Given the description of an element on the screen output the (x, y) to click on. 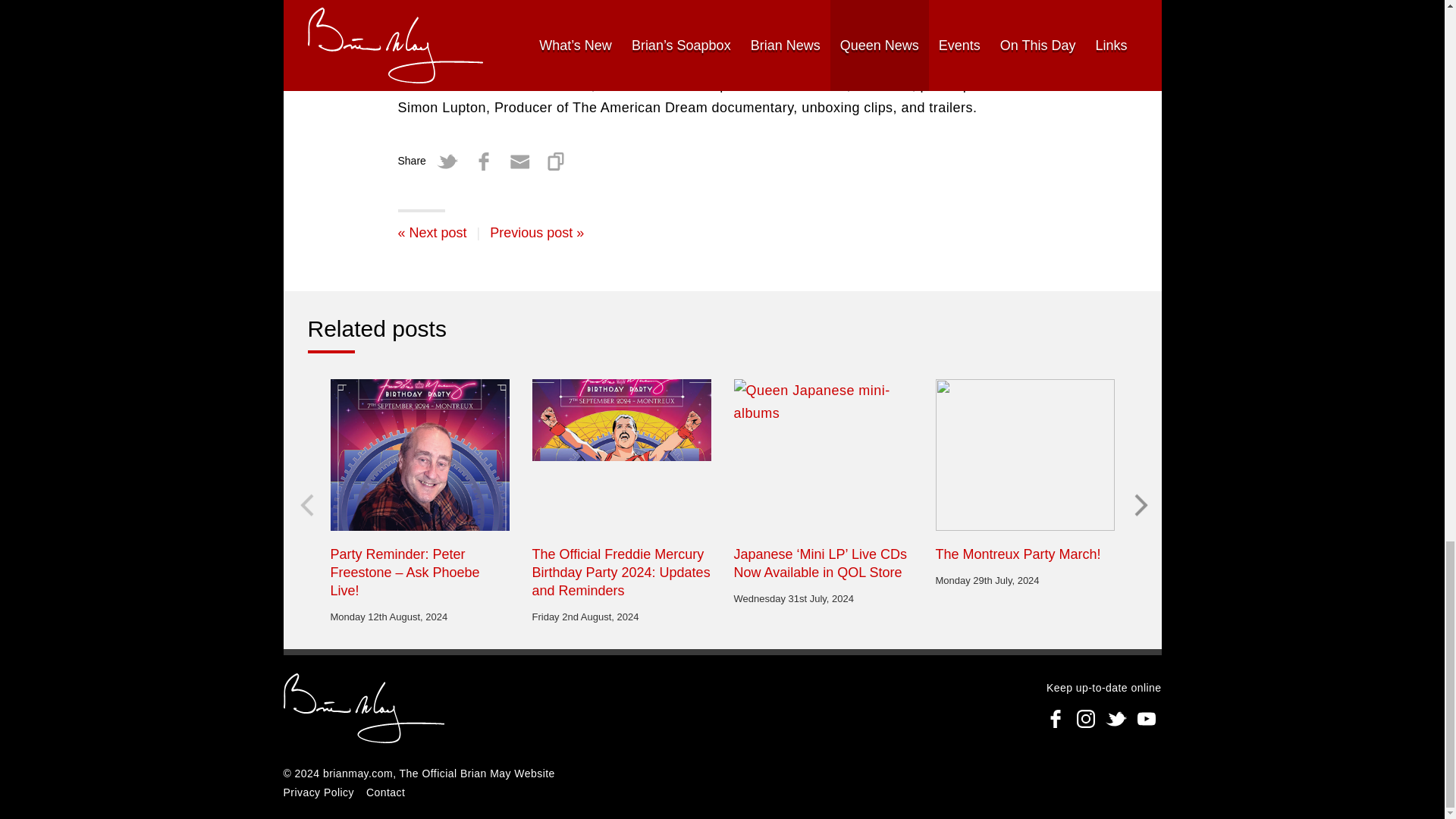
Click here (431, 61)
Follow BrianMay.com on facebook (1055, 718)
Follow BrianMay.com on Instagram (1085, 718)
brianmay.com (364, 710)
Click here (431, 2)
Follow Brian May on YouTube (1146, 718)
brianmay.com (358, 773)
Follow Brian May on Twitter (1115, 718)
'Somebody To Love' on a busy New York Subway (536, 232)
